Given the description of an element on the screen output the (x, y) to click on. 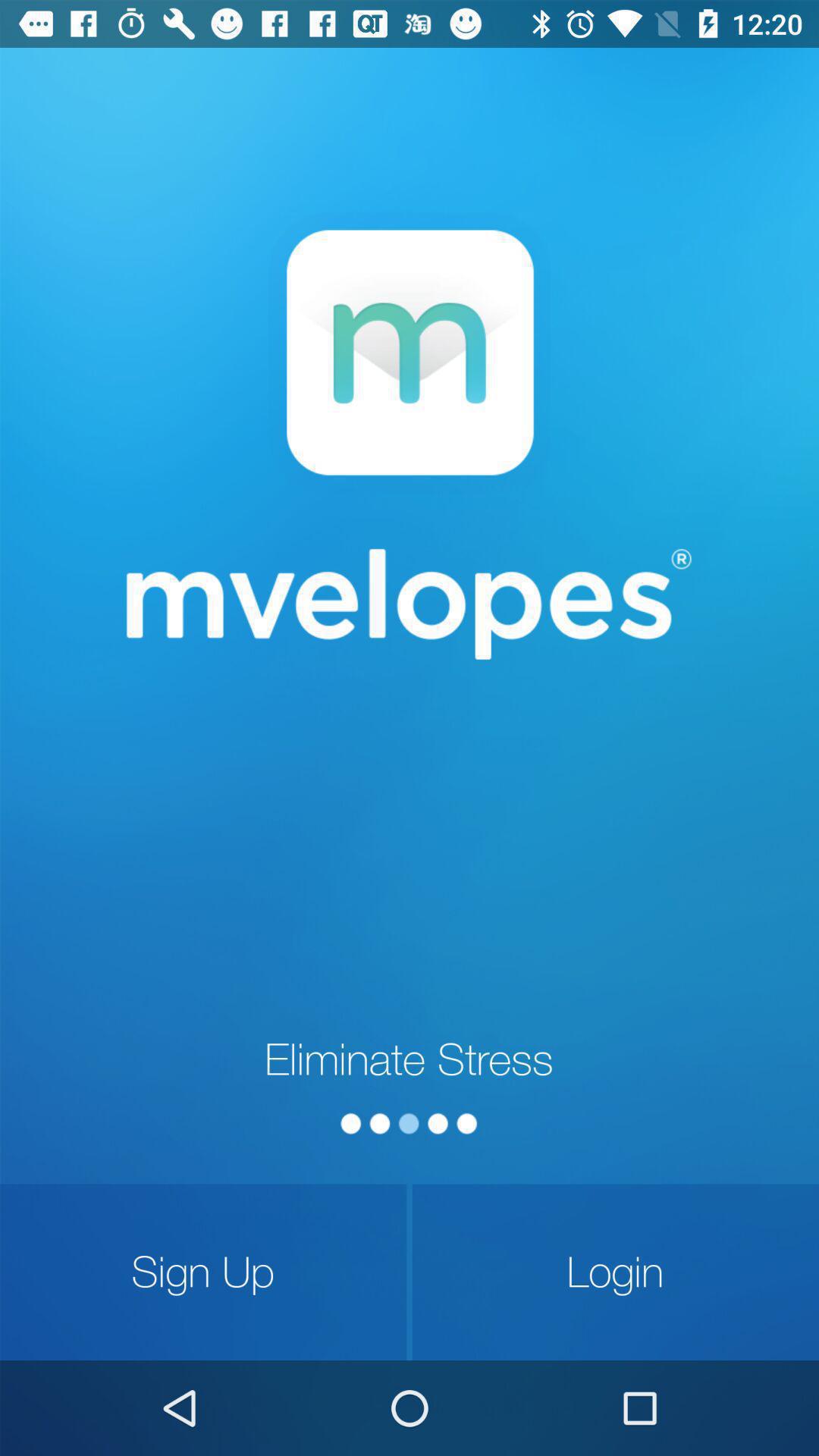
press icon to the left of login icon (203, 1272)
